Given the description of an element on the screen output the (x, y) to click on. 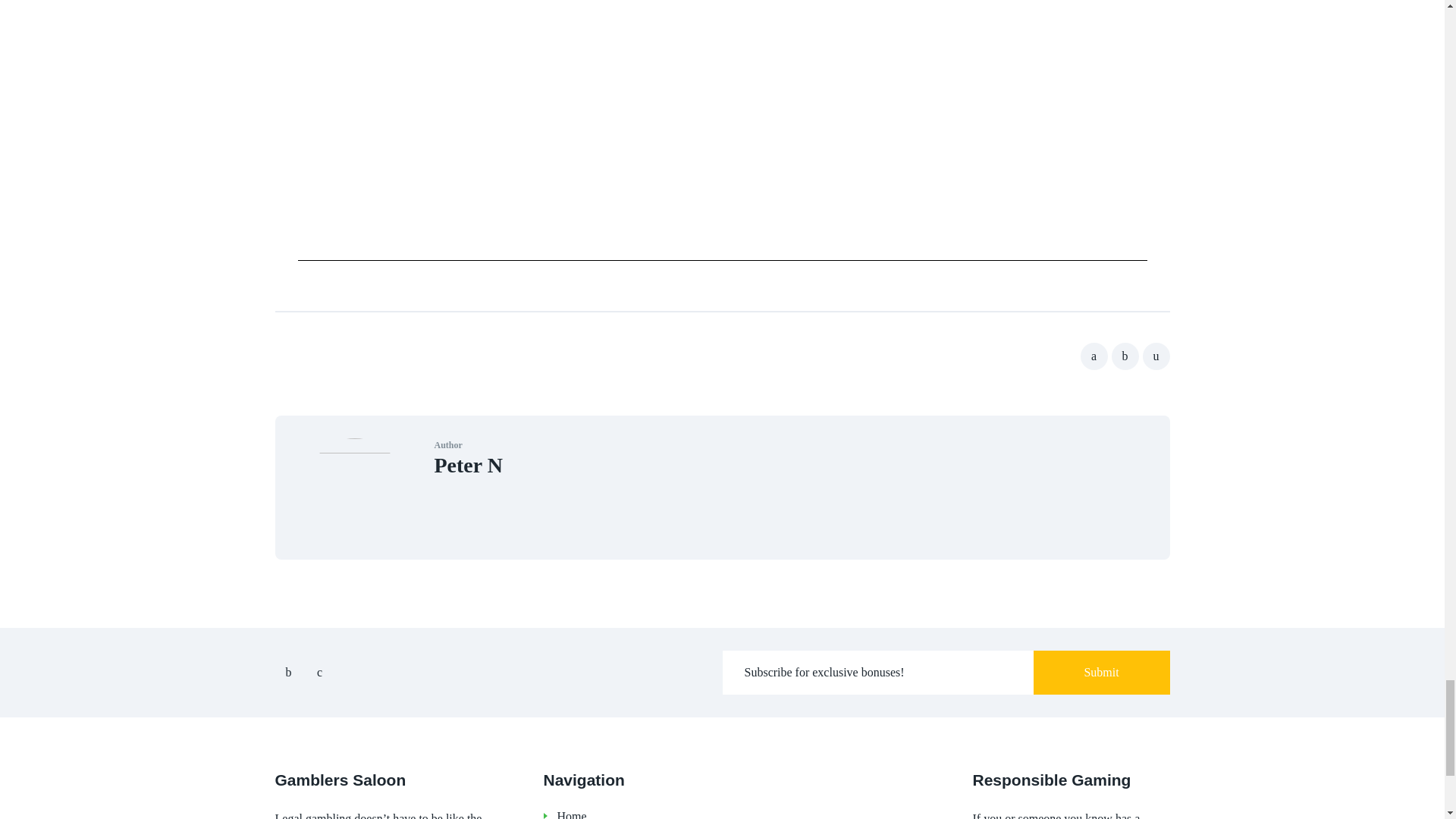
Share on Facebook (1093, 356)
Submit (1100, 672)
